Given the description of an element on the screen output the (x, y) to click on. 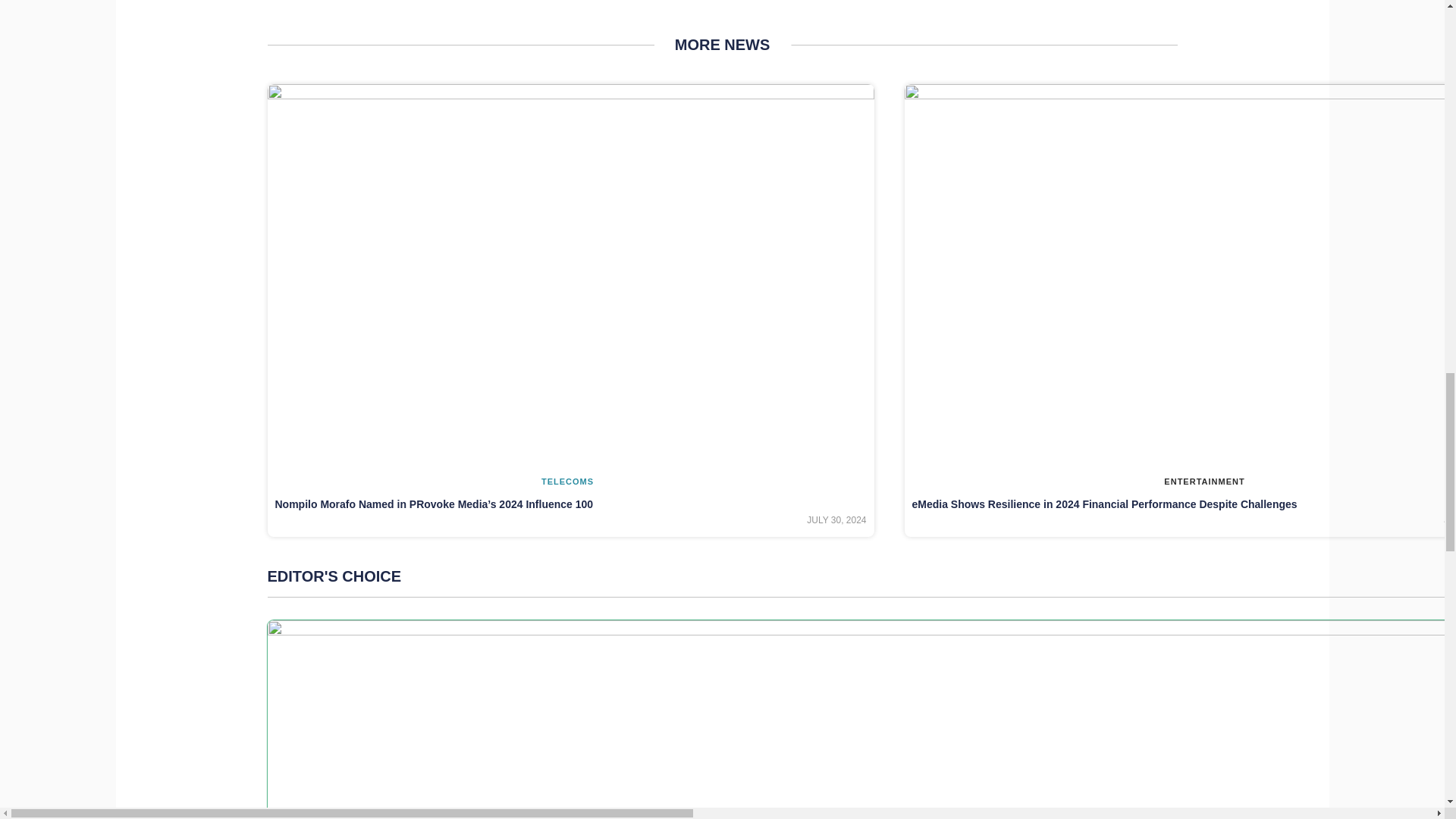
EDITOR'S CHOICE (861, 576)
